Given the description of an element on the screen output the (x, y) to click on. 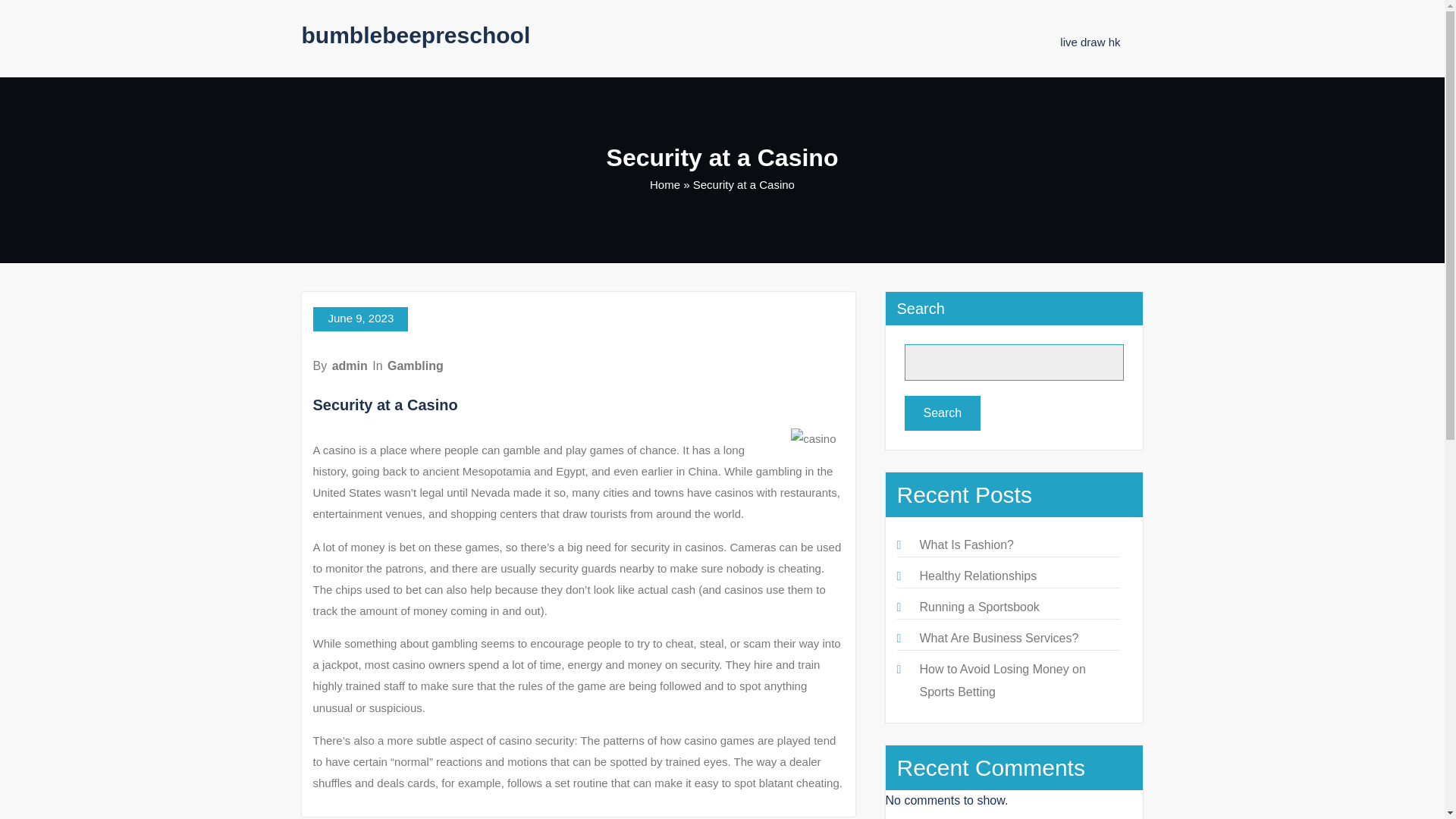
Running a Sportsbook (978, 606)
Gambling (415, 365)
live draw hk (1089, 41)
How to Avoid Losing Money on Sports Betting (1001, 680)
What Is Fashion? (965, 544)
Healthy Relationships (977, 575)
June 9, 2023 (360, 319)
admin (349, 365)
bumblebeepreschool (416, 34)
Search (941, 412)
